Given the description of an element on the screen output the (x, y) to click on. 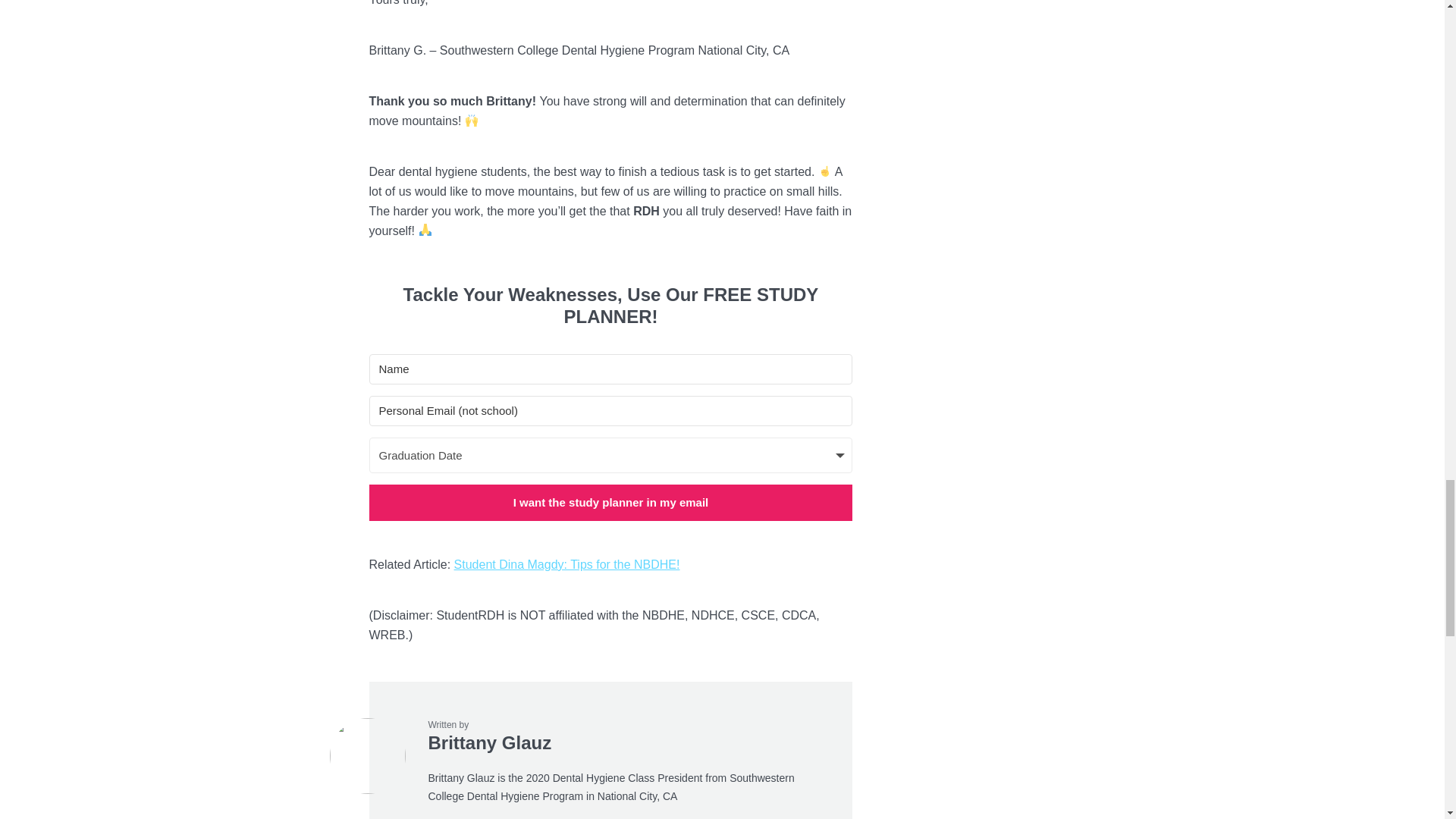
Student Dina Magdy: Tips for the NBDHE! (566, 563)
Brittany Glauz (489, 742)
I want the study planner in my email (609, 502)
